Given the description of an element on the screen output the (x, y) to click on. 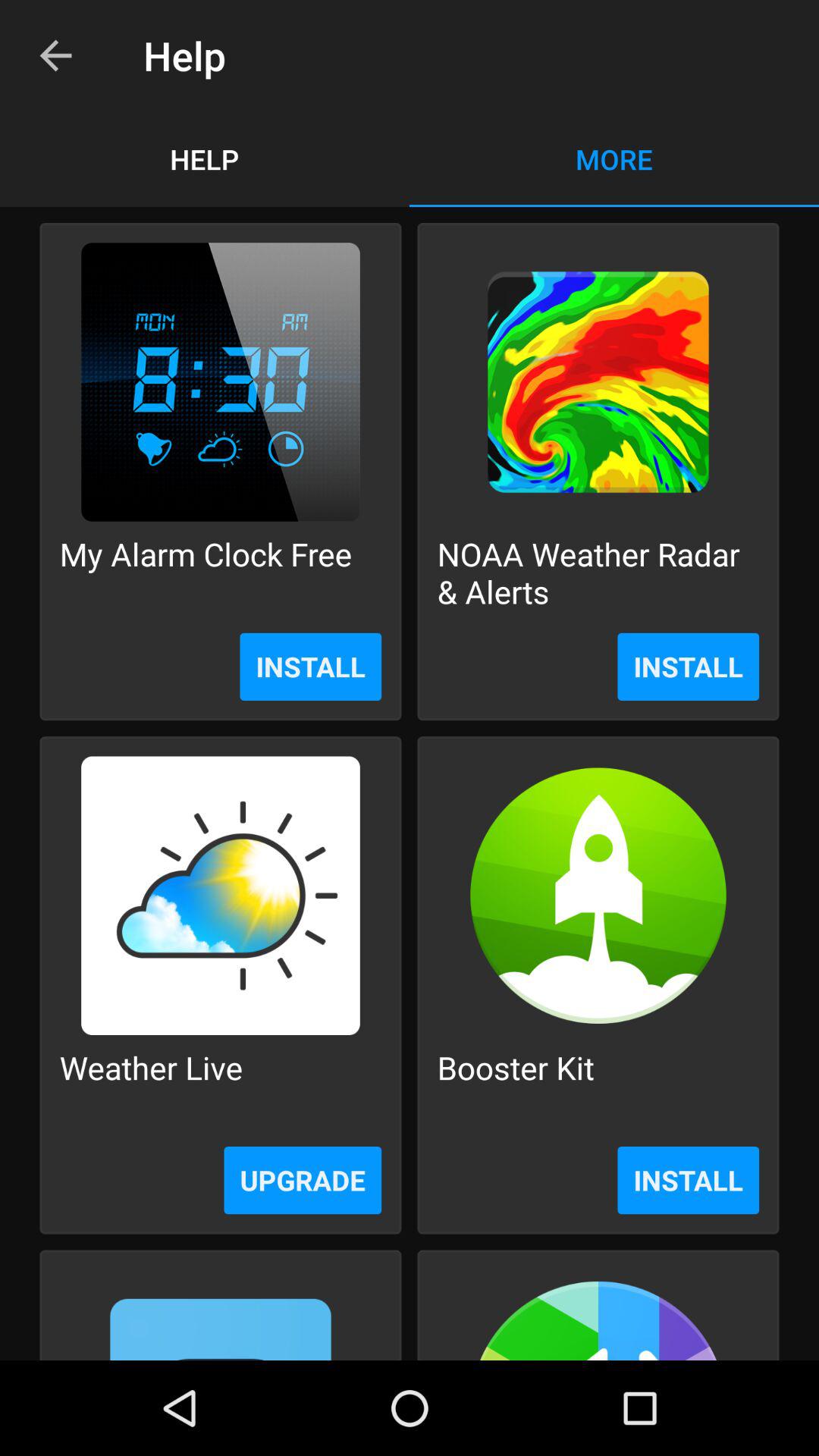
turn on icon above install icon (598, 572)
